Given the description of an element on the screen output the (x, y) to click on. 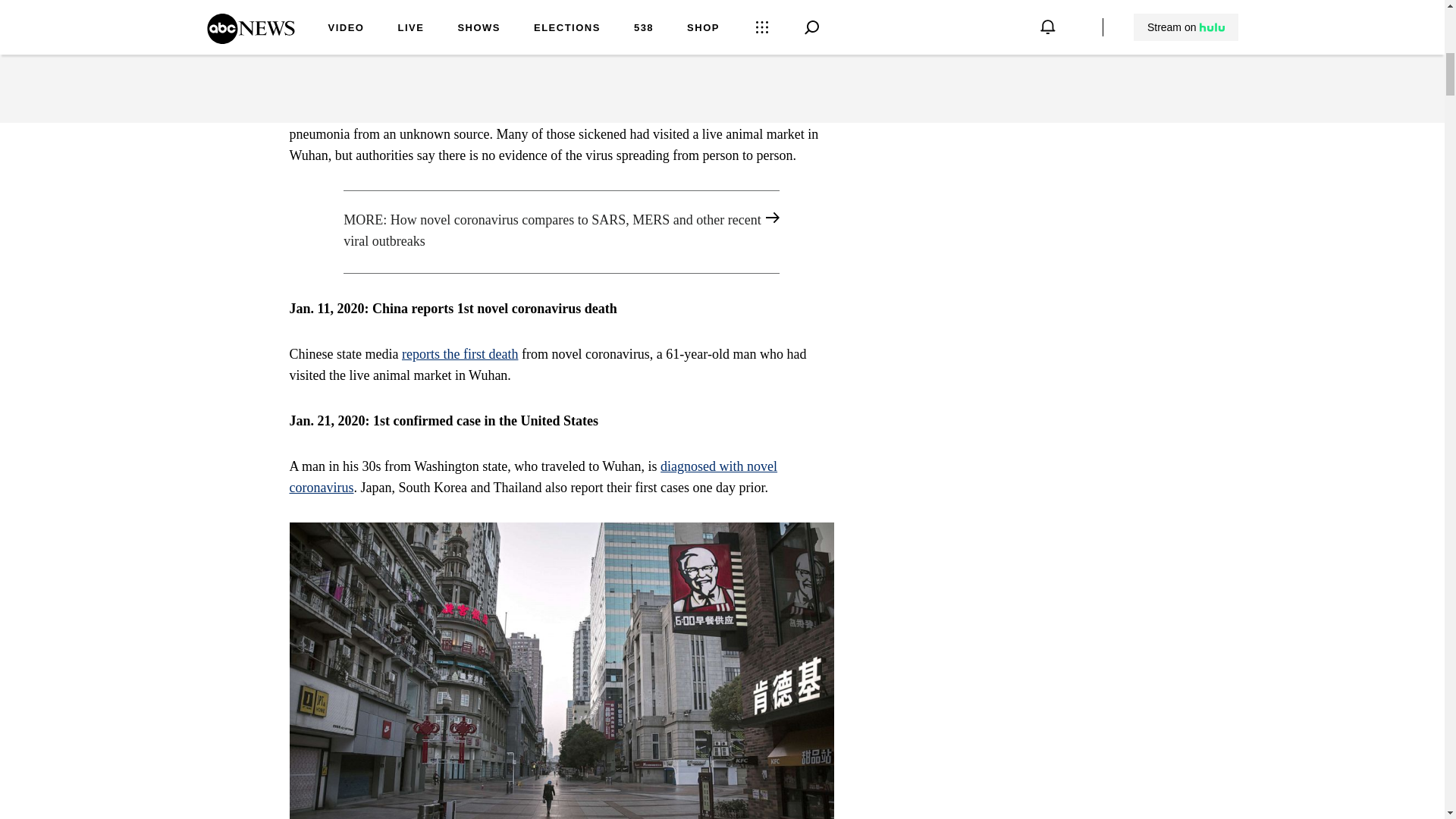
confirm that dozens of people (520, 112)
reports the first death (459, 353)
diagnosed with novel coronavirus (533, 476)
